Given the description of an element on the screen output the (x, y) to click on. 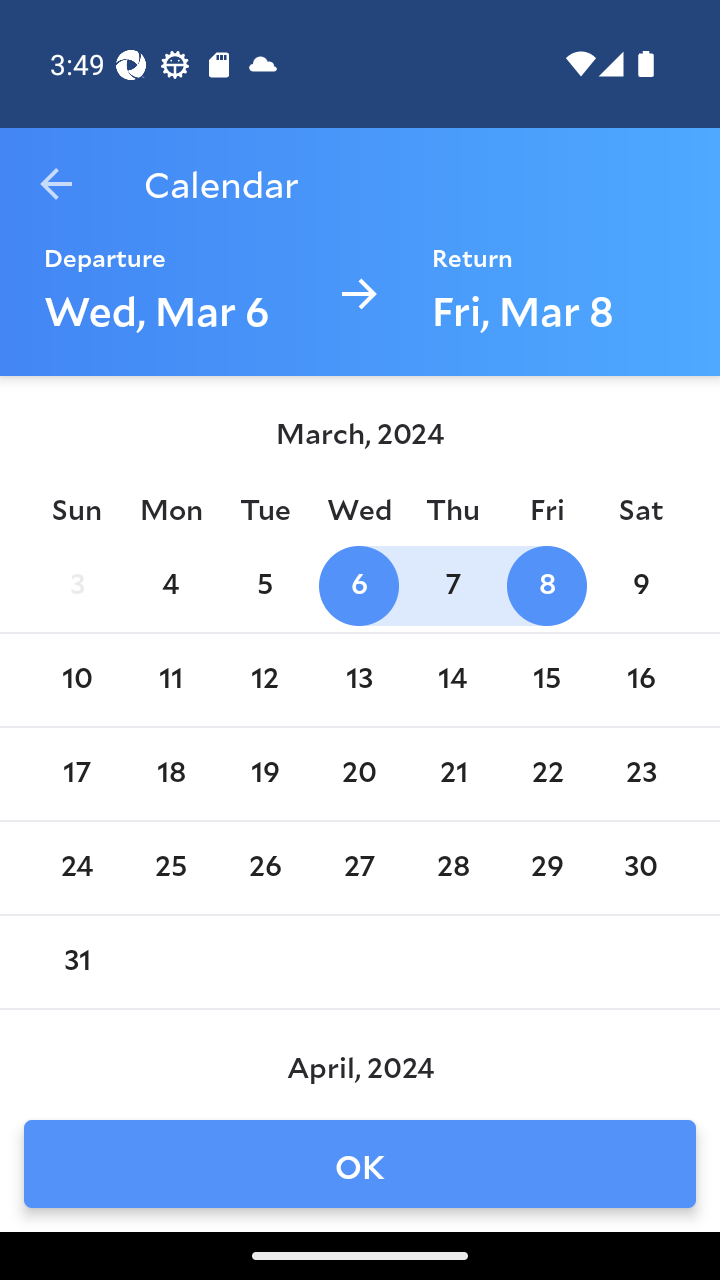
Navigate up (56, 184)
3 (76, 585)
4 (170, 585)
5 (264, 585)
6 (358, 585)
7 (453, 585)
8 (546, 585)
9 (641, 585)
10 (76, 679)
11 (170, 679)
12 (264, 679)
13 (358, 679)
14 (453, 679)
15 (546, 679)
16 (641, 679)
17 (76, 773)
18 (170, 773)
19 (264, 773)
20 (358, 773)
21 (453, 773)
22 (546, 773)
23 (641, 773)
24 (76, 867)
25 (170, 867)
26 (264, 867)
27 (358, 867)
28 (453, 867)
29 (546, 867)
30 (641, 867)
31 (76, 961)
OK (359, 1164)
